Given the description of an element on the screen output the (x, y) to click on. 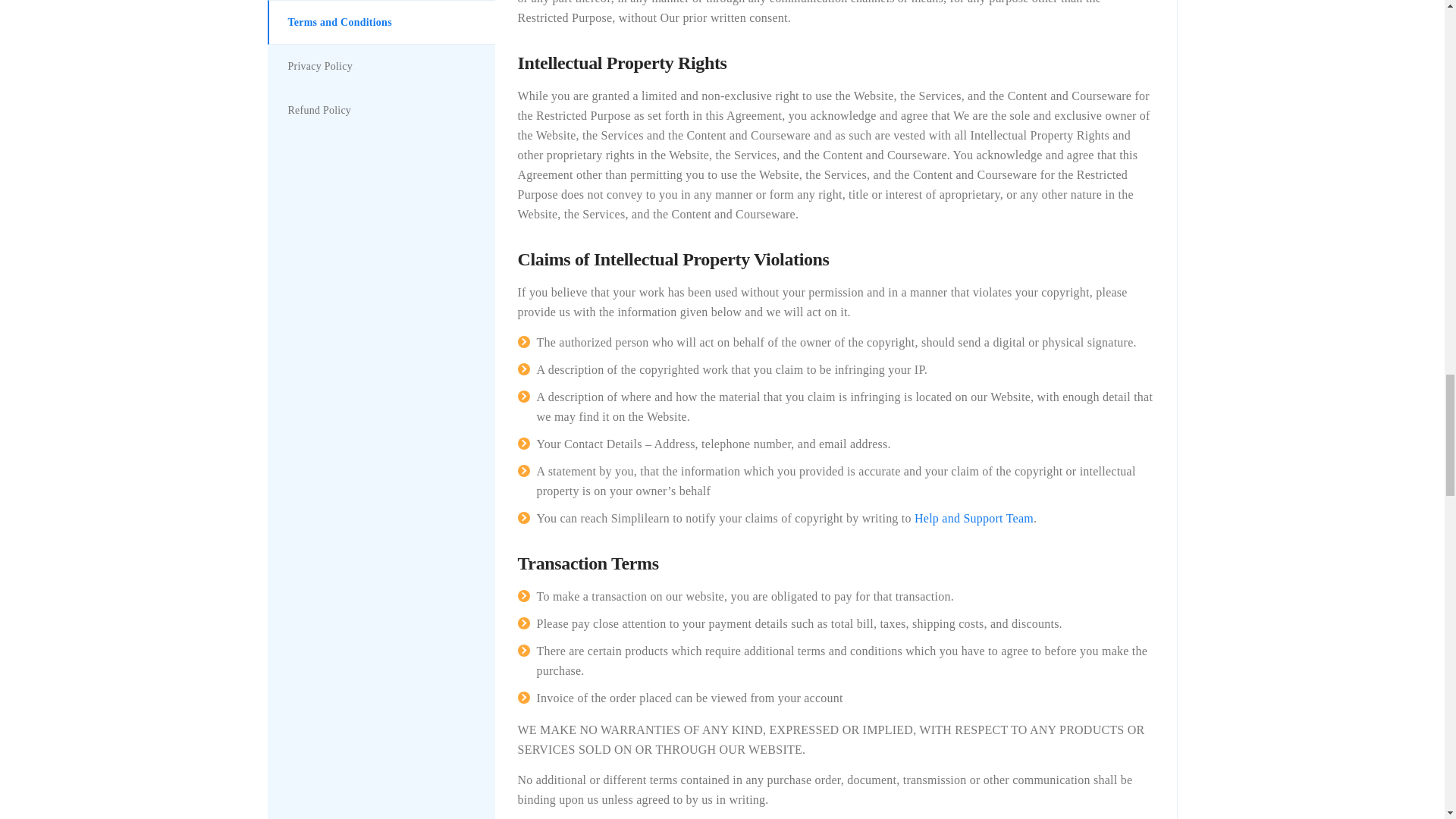
Help and Support Team (973, 517)
